Given the description of an element on the screen output the (x, y) to click on. 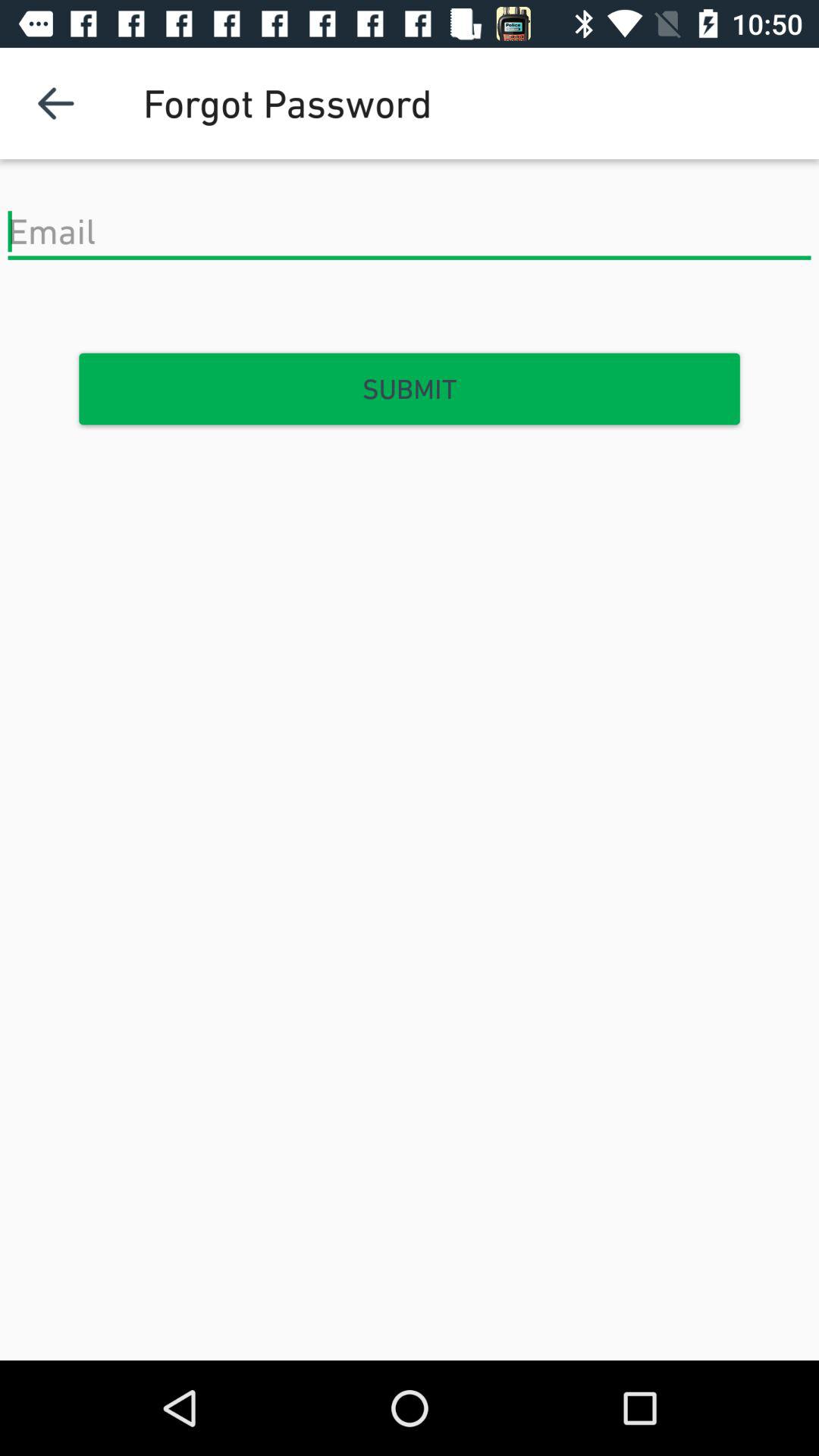
turn on icon next to forgot password icon (55, 103)
